Given the description of an element on the screen output the (x, y) to click on. 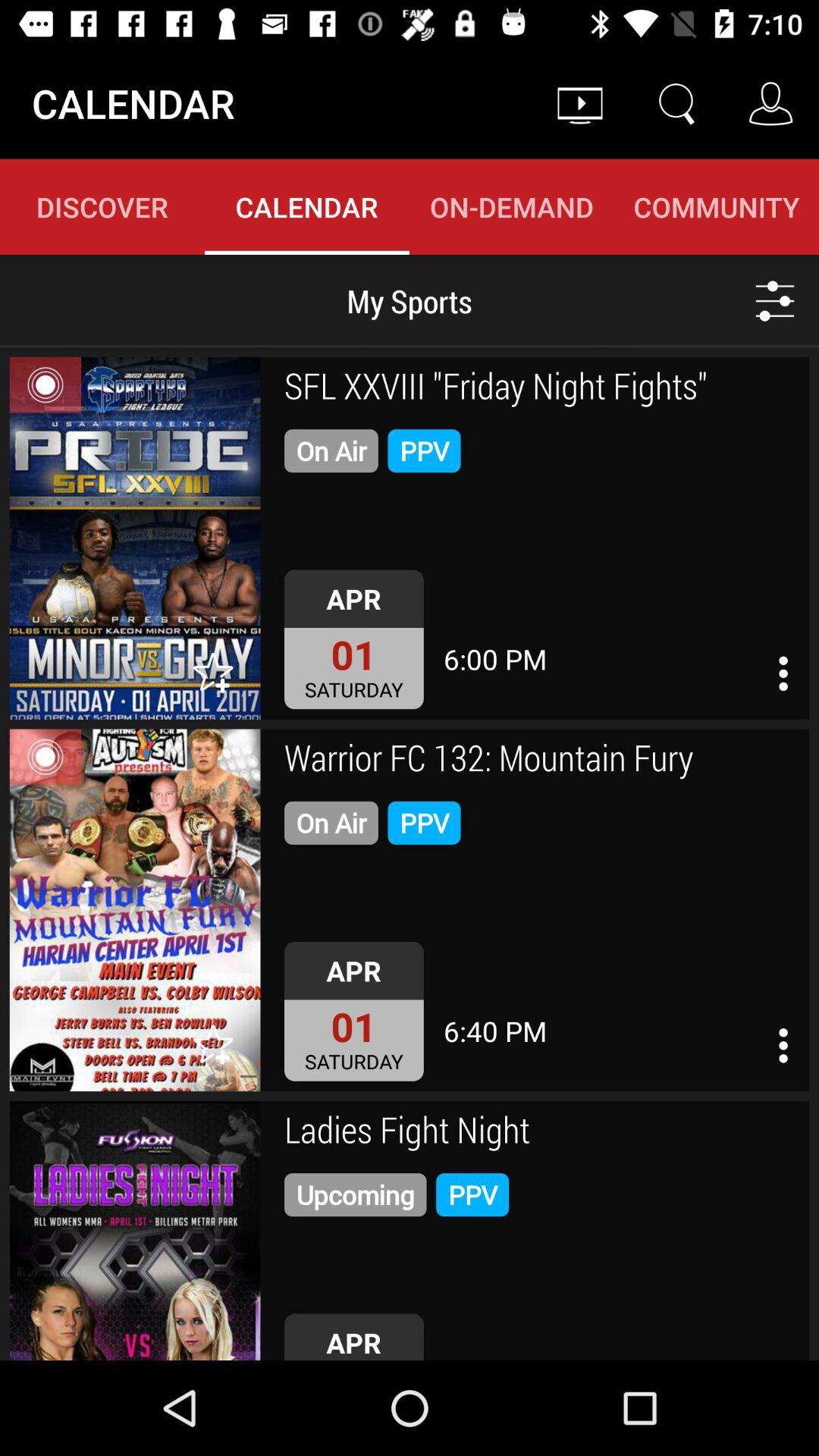
view image (134, 1230)
